Given the description of an element on the screen output the (x, y) to click on. 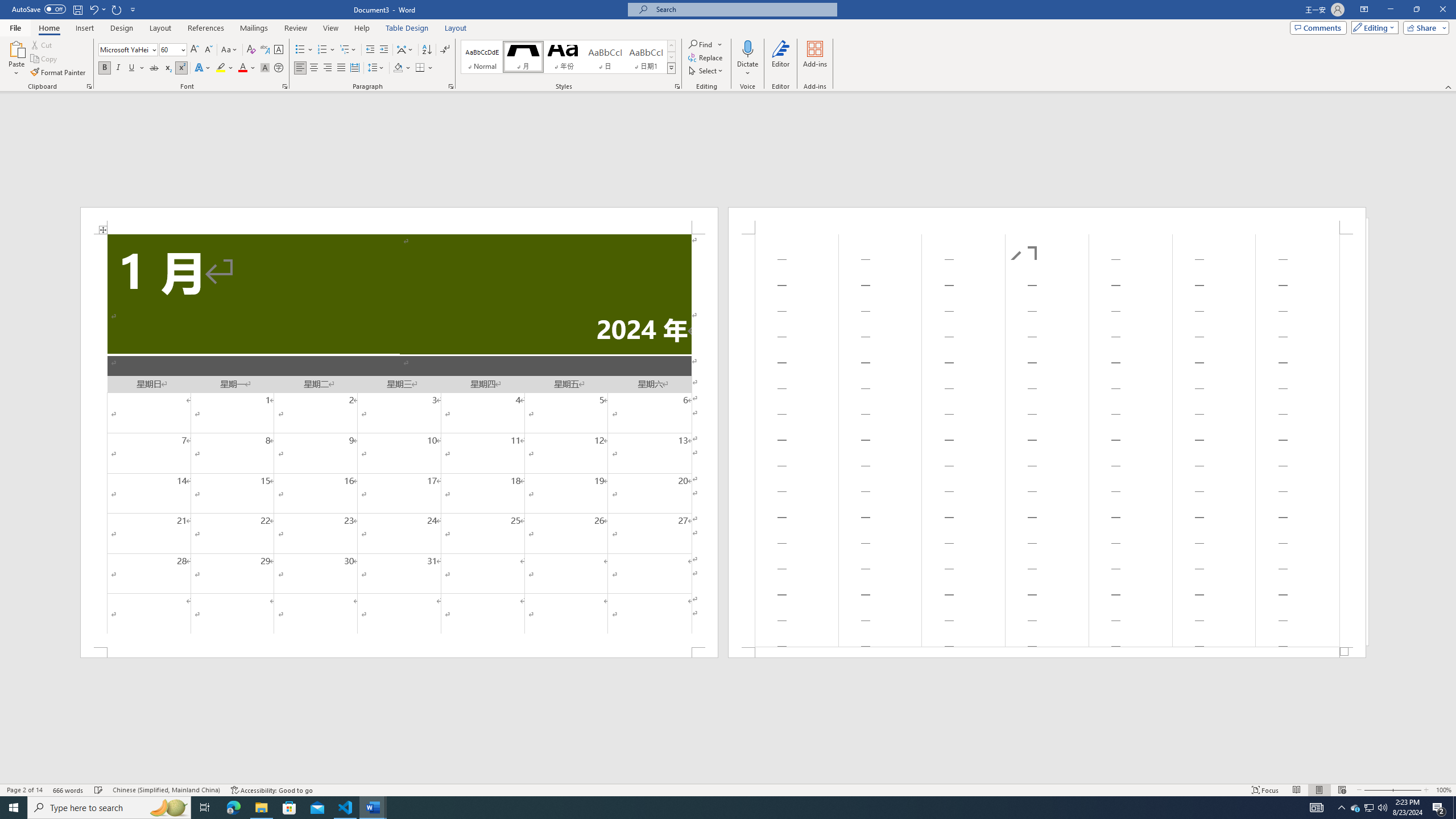
Insert (83, 28)
Undo Superscript (96, 9)
Page Number Page 2 of 14 (24, 790)
Web Layout (1342, 790)
Header -Section 1- (1046, 220)
Class: NetUIImage (671, 68)
Underline (131, 67)
Mode (1372, 27)
Quick Access Toolbar (74, 9)
Font (124, 49)
Superscript (180, 67)
Character Border (278, 49)
Font Color RGB(255, 0, 0) (241, 67)
